Given the description of an element on the screen output the (x, y) to click on. 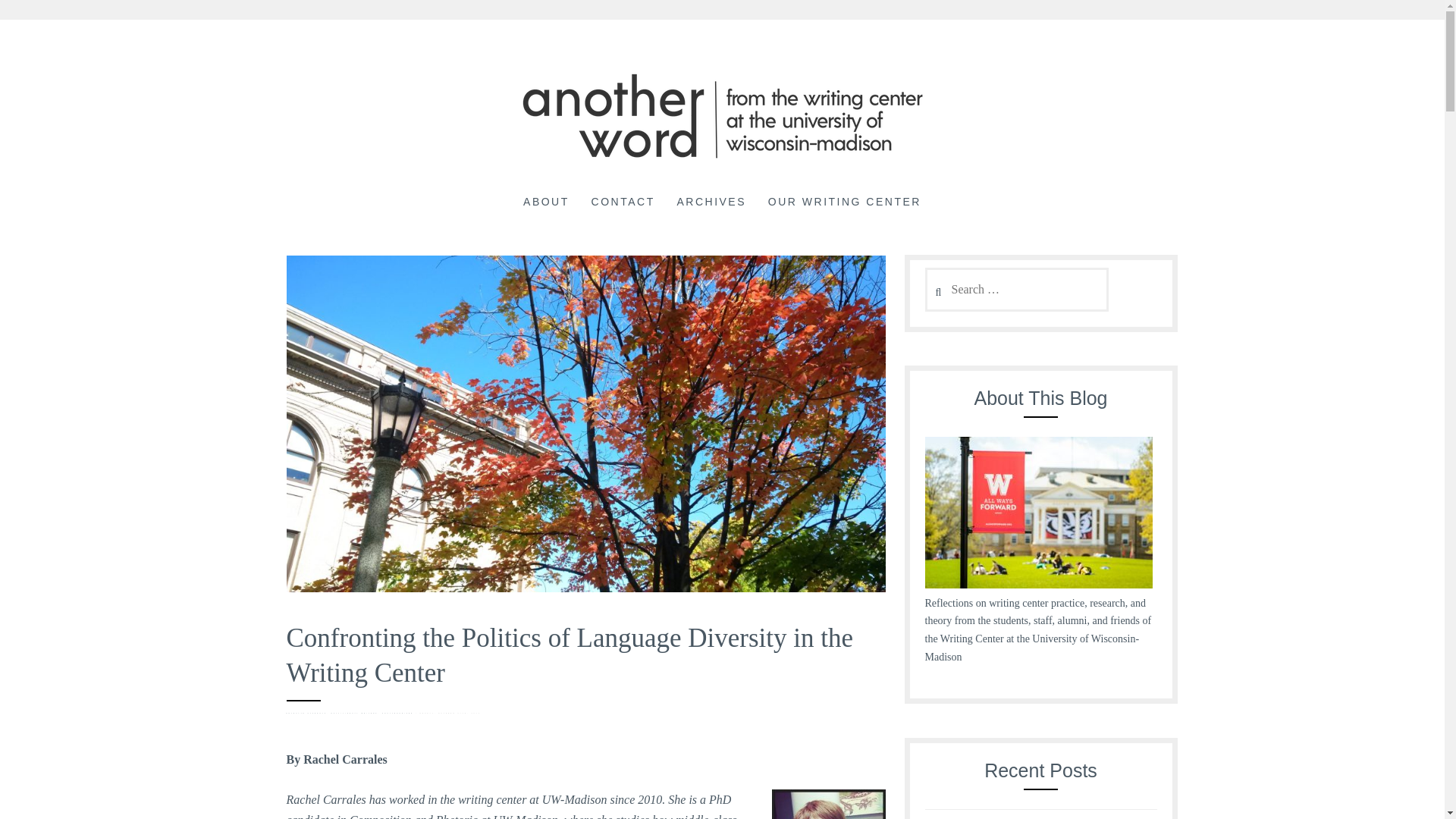
MULTILINGUAL WRITERS (354, 712)
CONTACT (623, 202)
Another Word (127, 194)
Search (42, 19)
OUR WRITING CENTER (844, 202)
GRADUATE STUDENTS (306, 712)
ARCHIVES (711, 202)
ABOUT (545, 202)
